Given the description of an element on the screen output the (x, y) to click on. 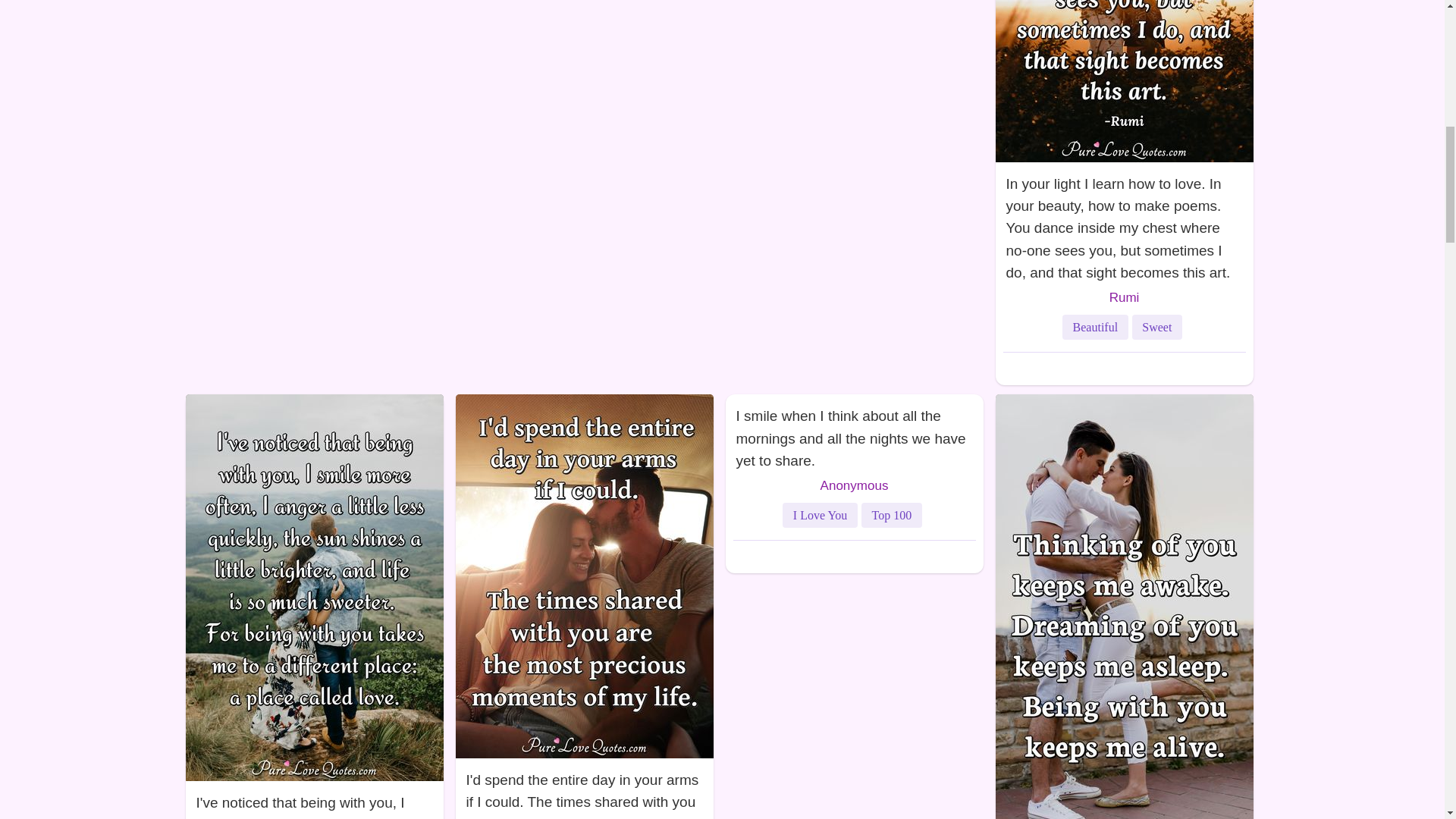
see quote (313, 800)
Advertisement (313, 84)
see quote (1123, 225)
see quote (583, 788)
